Given the description of an element on the screen output the (x, y) to click on. 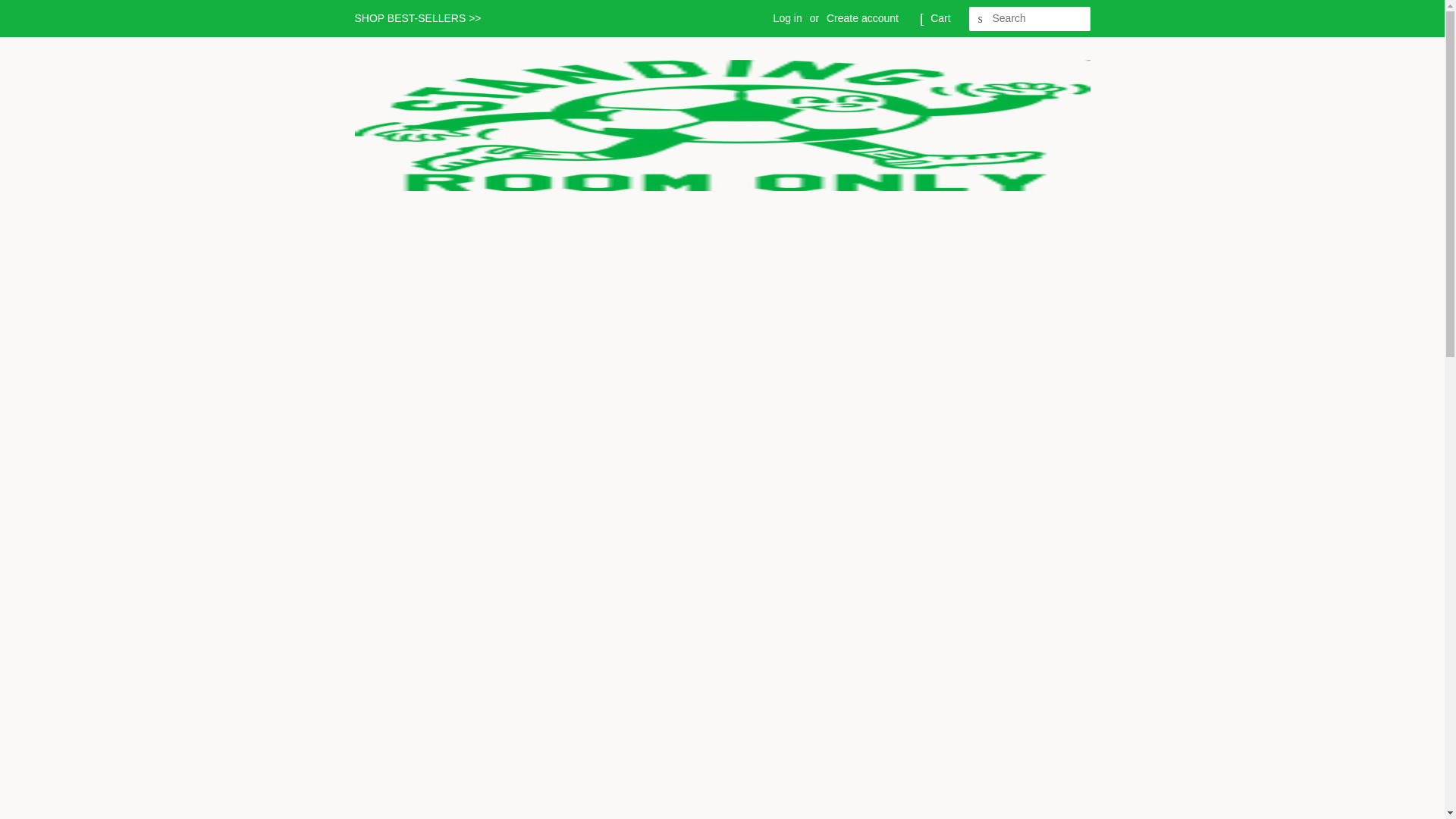
Cart (940, 18)
Log in (787, 18)
Create account (862, 18)
SEARCH (980, 18)
